Given the description of an element on the screen output the (x, y) to click on. 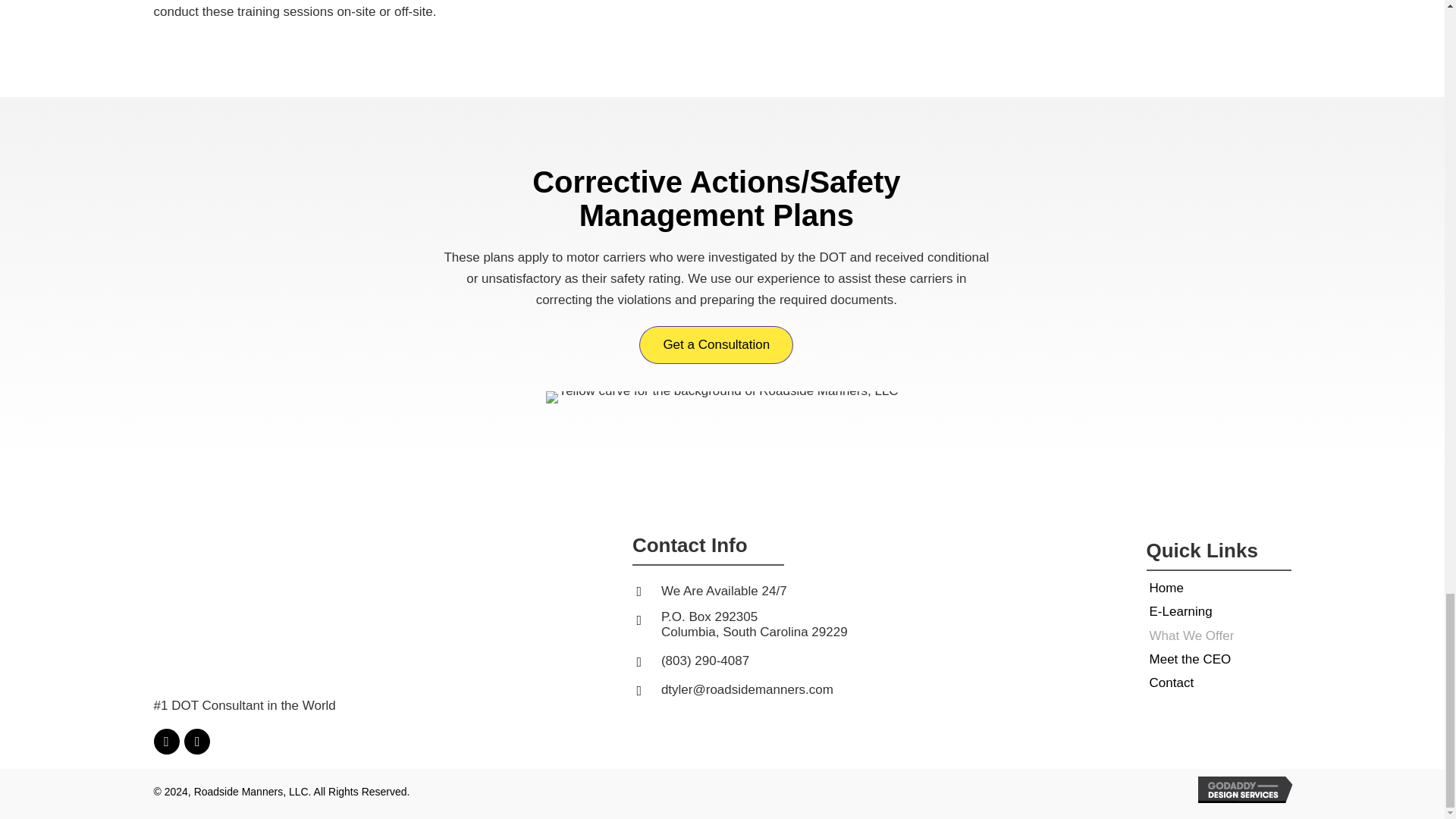
LinkedIn (165, 741)
Instagram (196, 741)
Contact (1171, 682)
What We Offer (1192, 635)
Meet the CEO (1190, 659)
Roadside Manners, LLC (255, 584)
E-Learning (1181, 611)
Get a Consultation (716, 344)
Home (1166, 588)
